Given the description of an element on the screen output the (x, y) to click on. 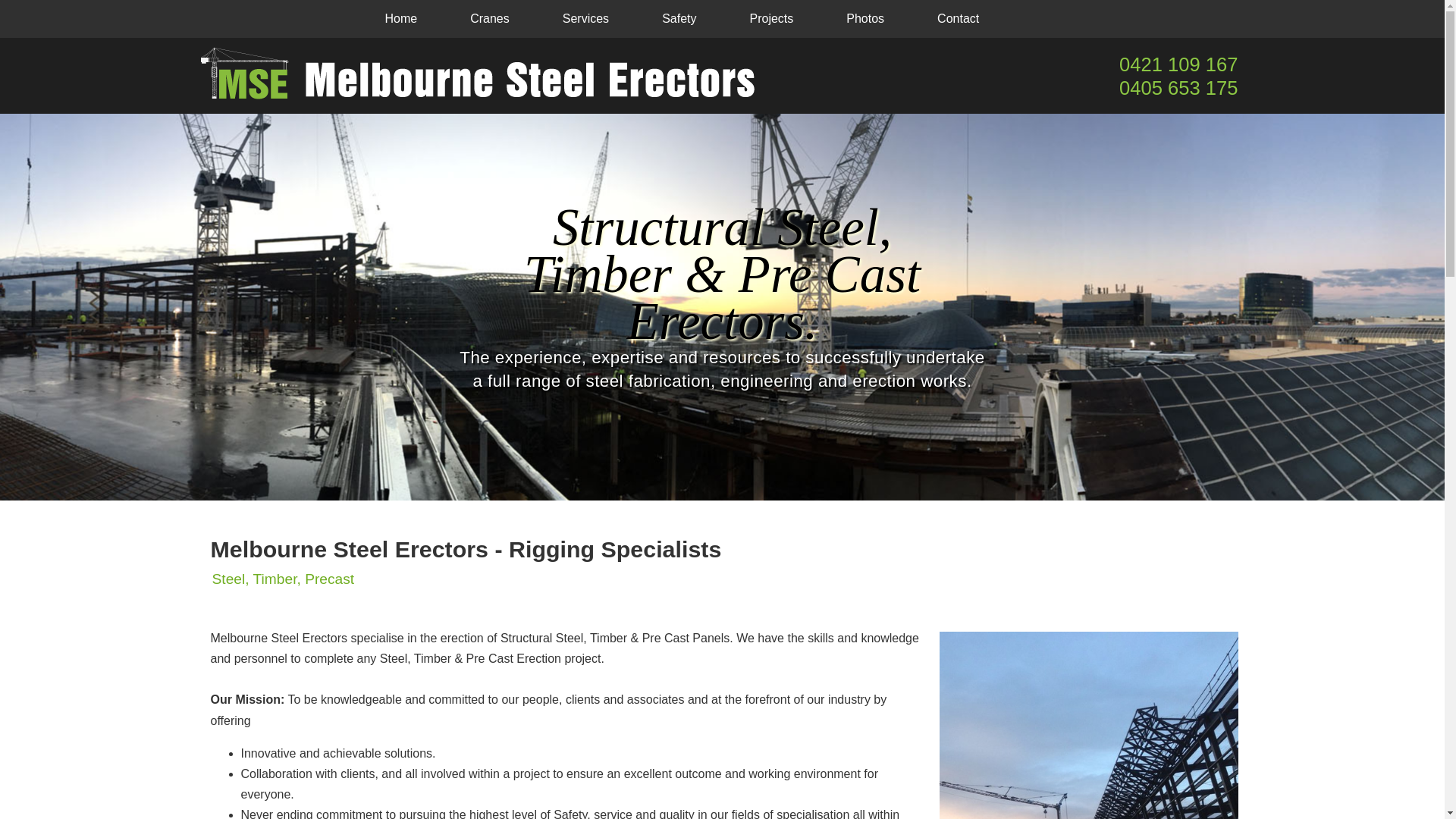
Safety Element type: text (678, 18)
Photos Element type: text (864, 18)
Contact Element type: text (957, 18)
Cranes Element type: text (489, 18)
Services Element type: text (585, 18)
Home Element type: text (400, 18)
Projects Element type: text (770, 18)
